Given the description of an element on the screen output the (x, y) to click on. 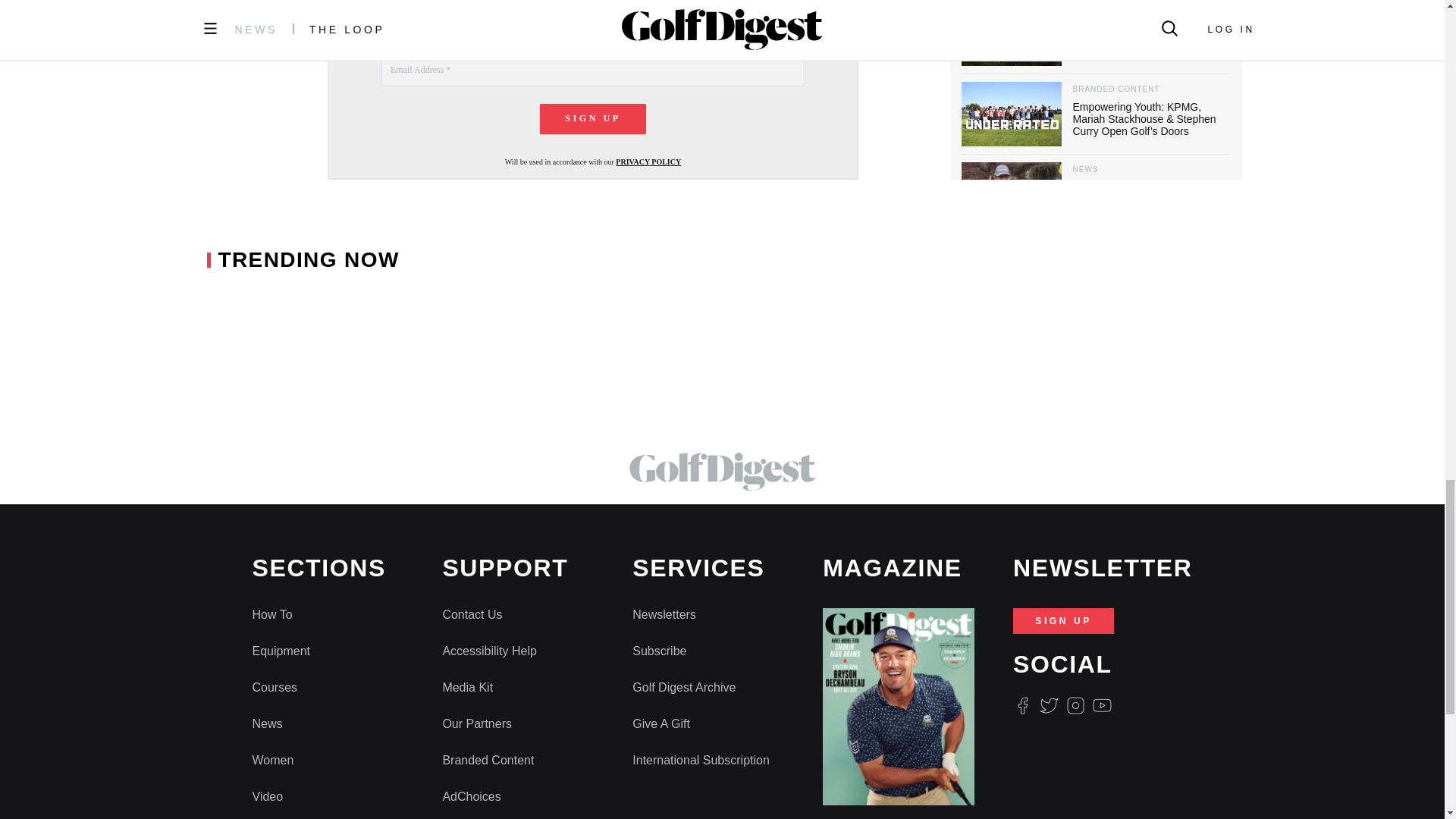
Instagram Logo (1074, 705)
Twitter Logo (1048, 705)
Youtube Icon (1102, 705)
Sign up (593, 119)
Facebook Logo (1022, 705)
